Given the description of an element on the screen output the (x, y) to click on. 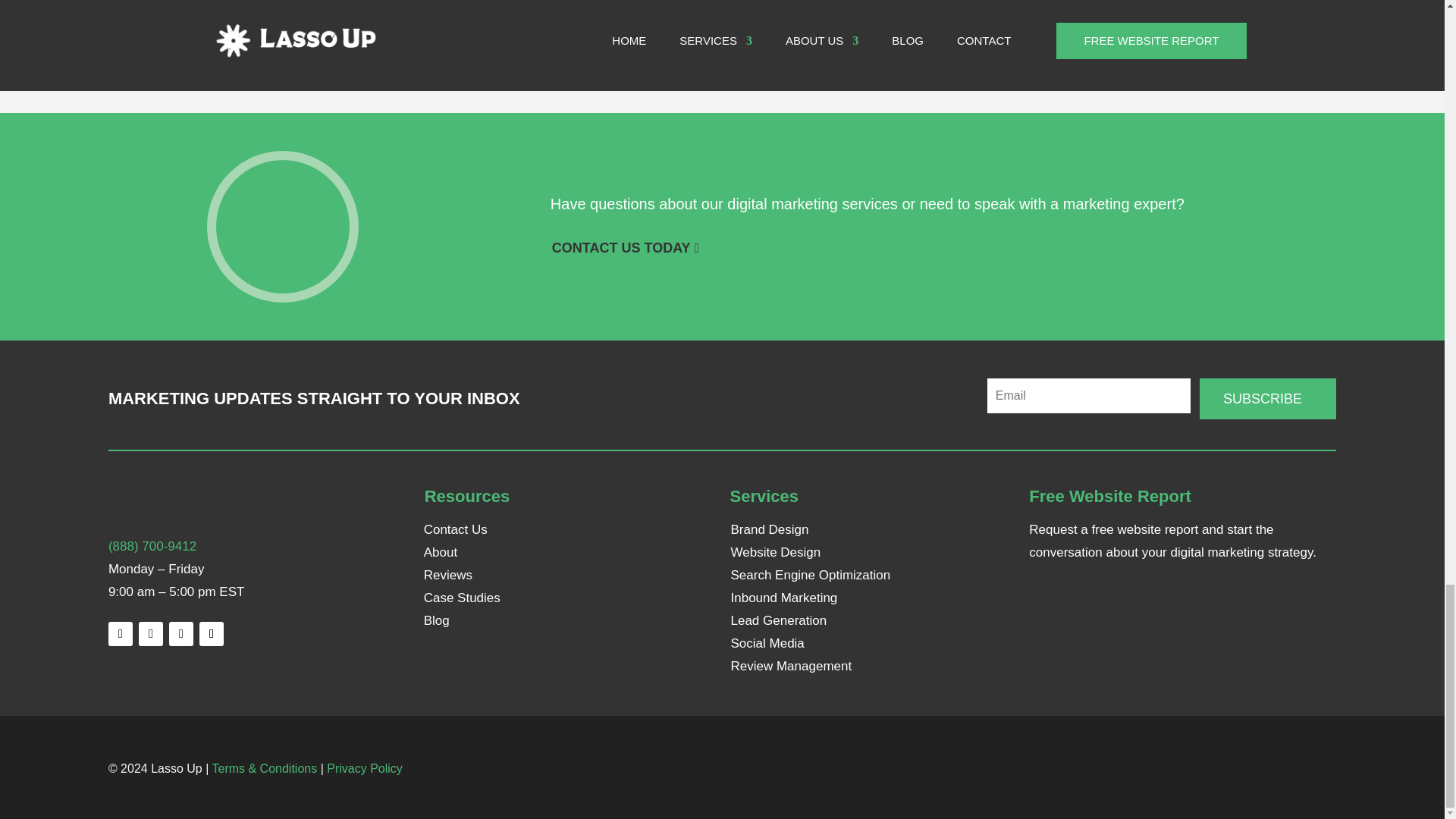
Follow on Facebook (150, 633)
Follow on LinkedIn (119, 633)
